Given the description of an element on the screen output the (x, y) to click on. 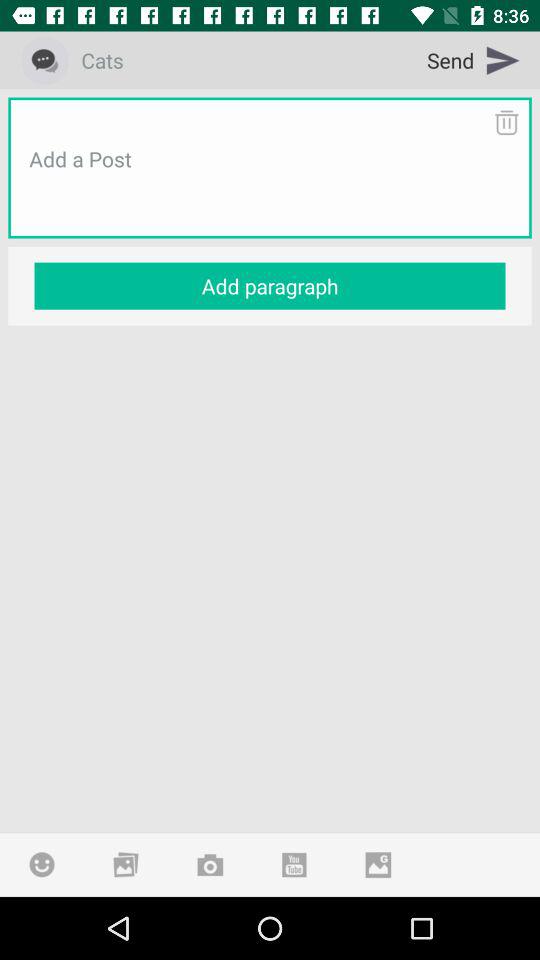
open pictures page (126, 864)
